Given the description of an element on the screen output the (x, y) to click on. 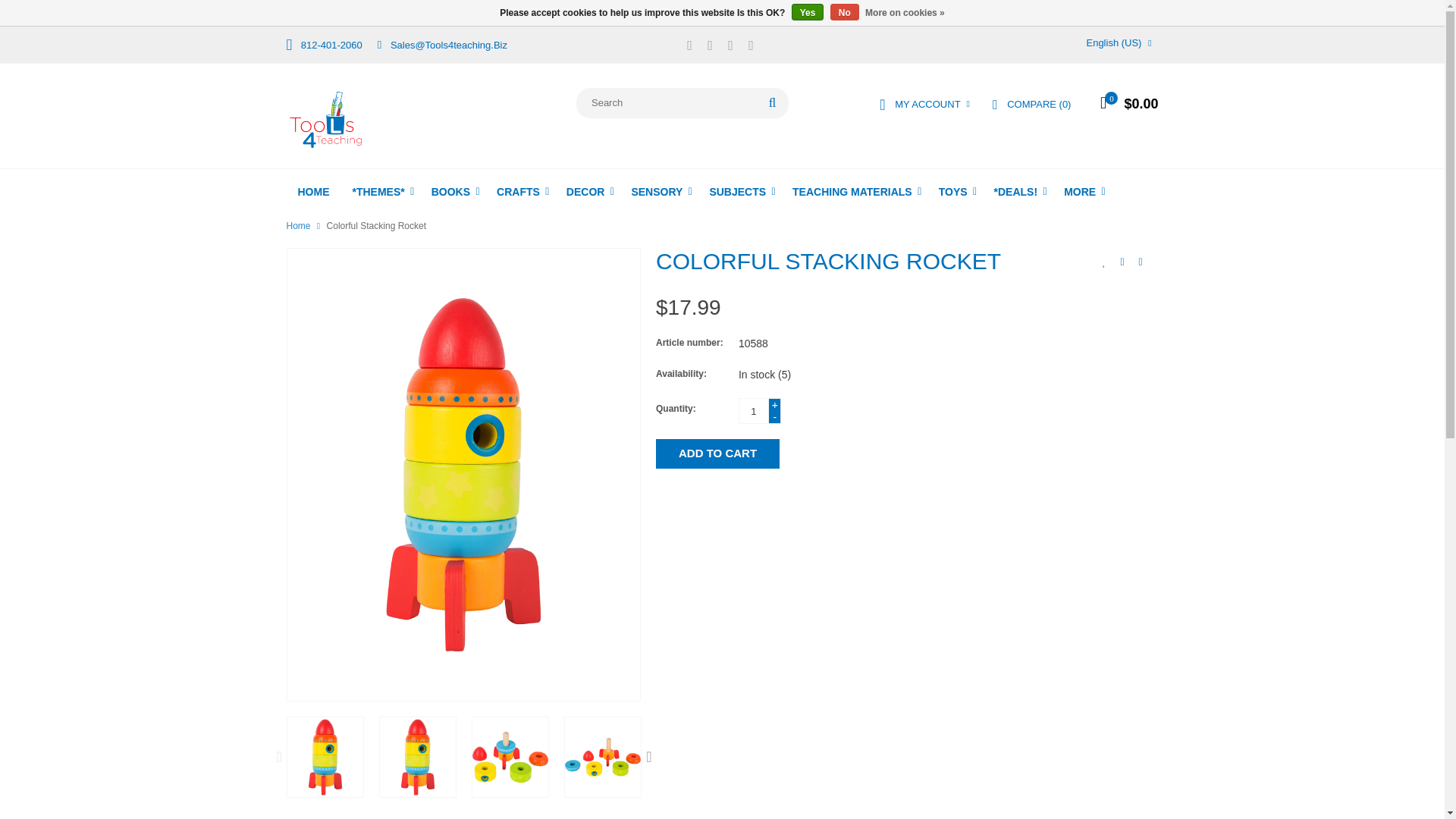
Home (313, 191)
Search (772, 102)
MY ACCOUNT (924, 104)
1 (753, 411)
Email (441, 43)
Tools 4 Teaching (325, 119)
Twitter Tools 4 Teaching (709, 46)
YouTube Tools 4 Teaching (730, 46)
Instagram Tools 4 Teaching (750, 46)
Compare (1031, 104)
